Given the description of an element on the screen output the (x, y) to click on. 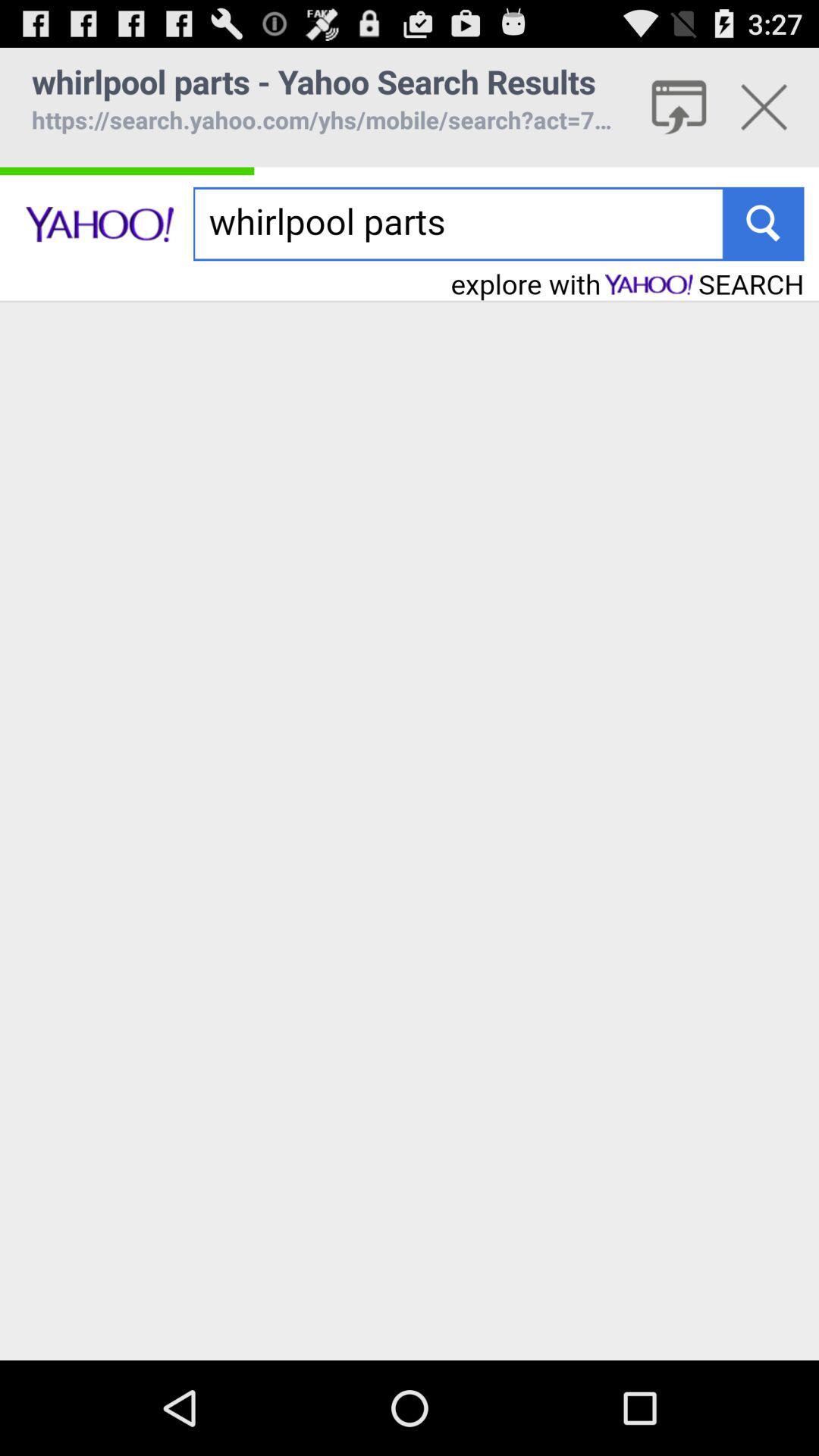
close add (764, 107)
